Given the description of an element on the screen output the (x, y) to click on. 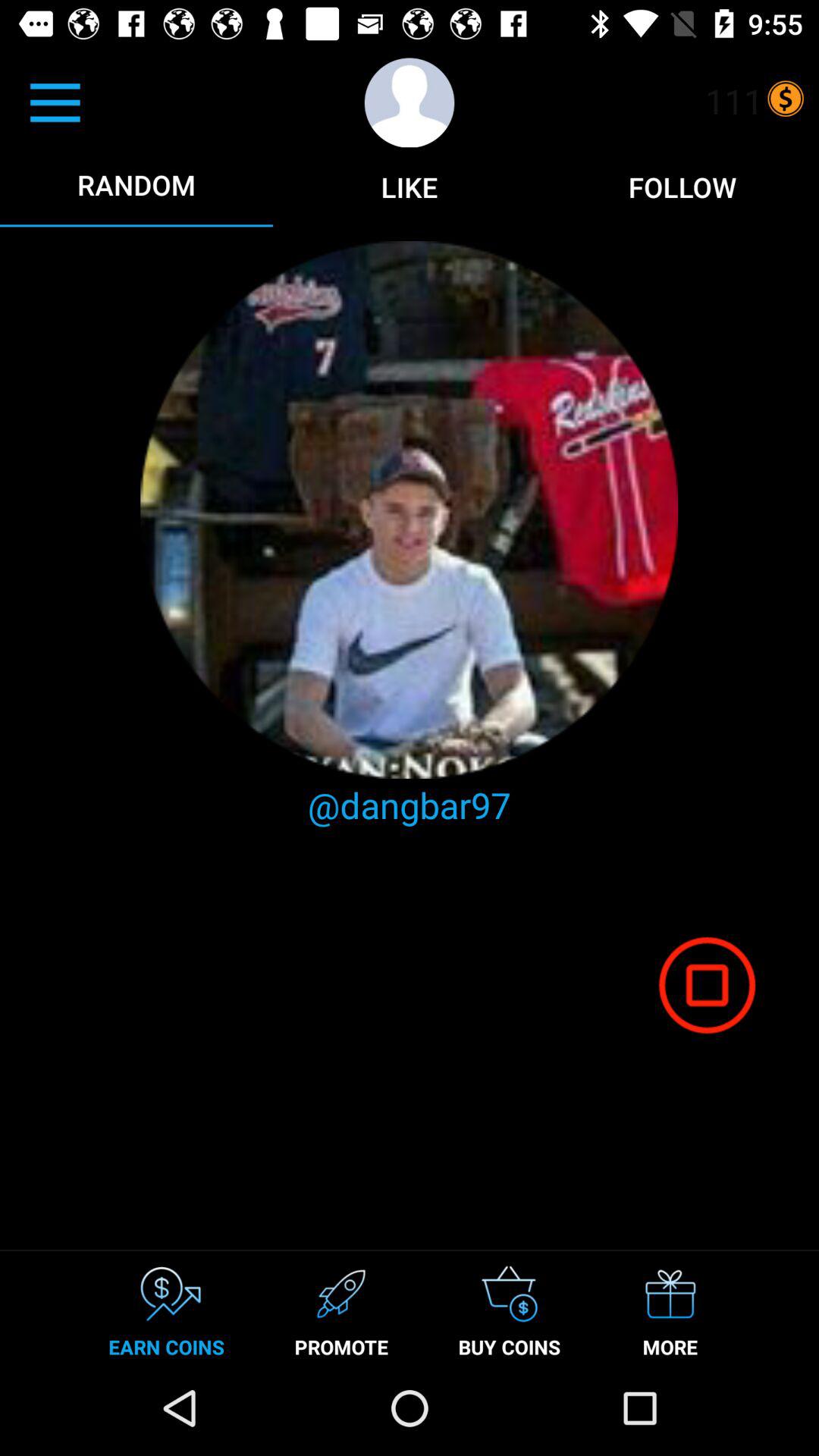
select the icon above more (707, 984)
click on the option which is above random (55, 103)
select the option that is to the right of  like (682, 187)
select the menu icon which is left top most corner of the page (79, 117)
